Given the description of an element on the screen output the (x, y) to click on. 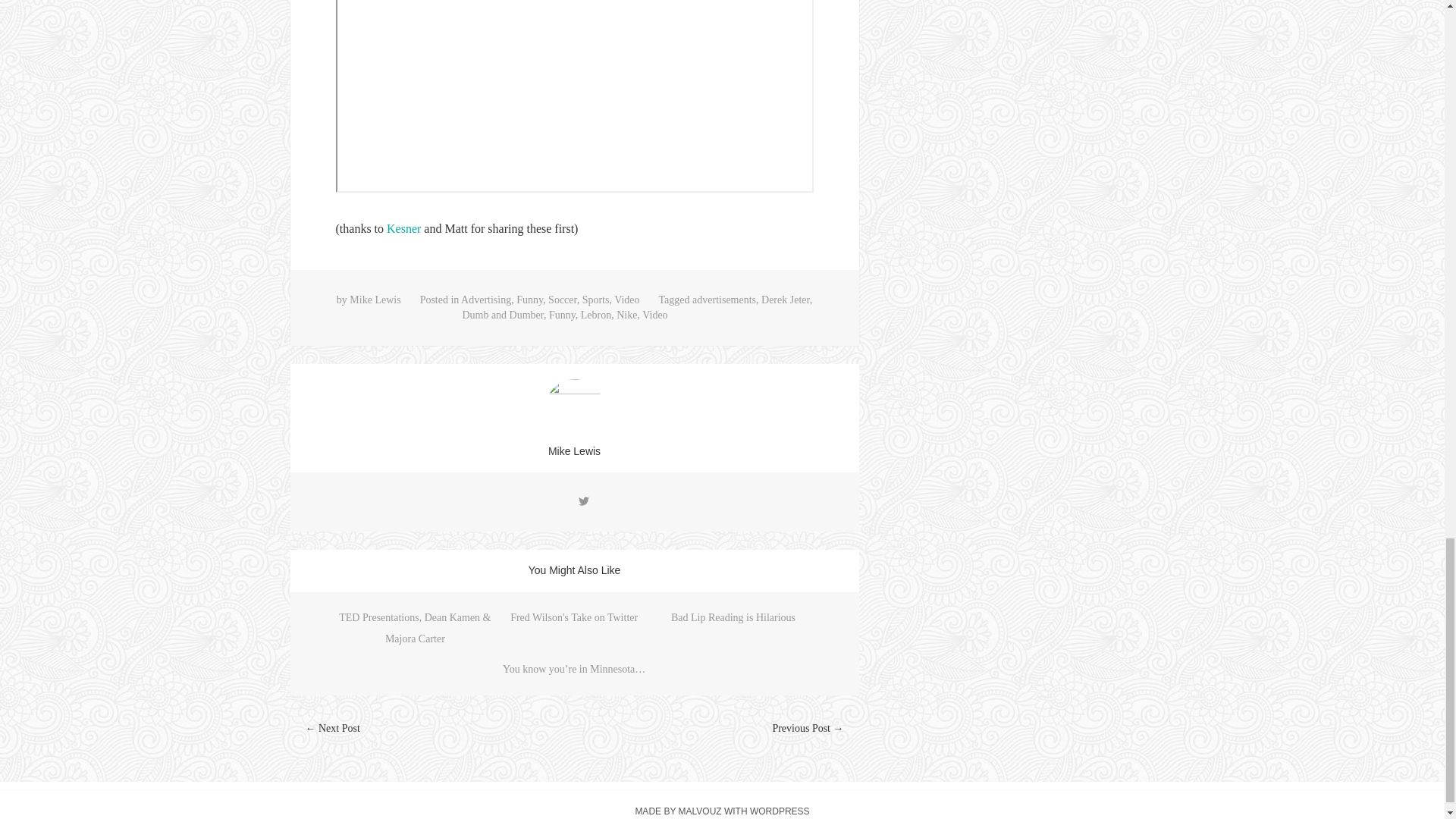
Bad Lip Reading is Hilarious (732, 617)
Dumb and Dumber (502, 315)
Lebron (595, 315)
advertisements (724, 299)
Fred Wilson's Take on Twitter (574, 617)
Video (626, 299)
Funny (561, 315)
Derek Jeter (785, 299)
Mike Lewis (573, 451)
Mike Lewis (374, 299)
